Given the description of an element on the screen output the (x, y) to click on. 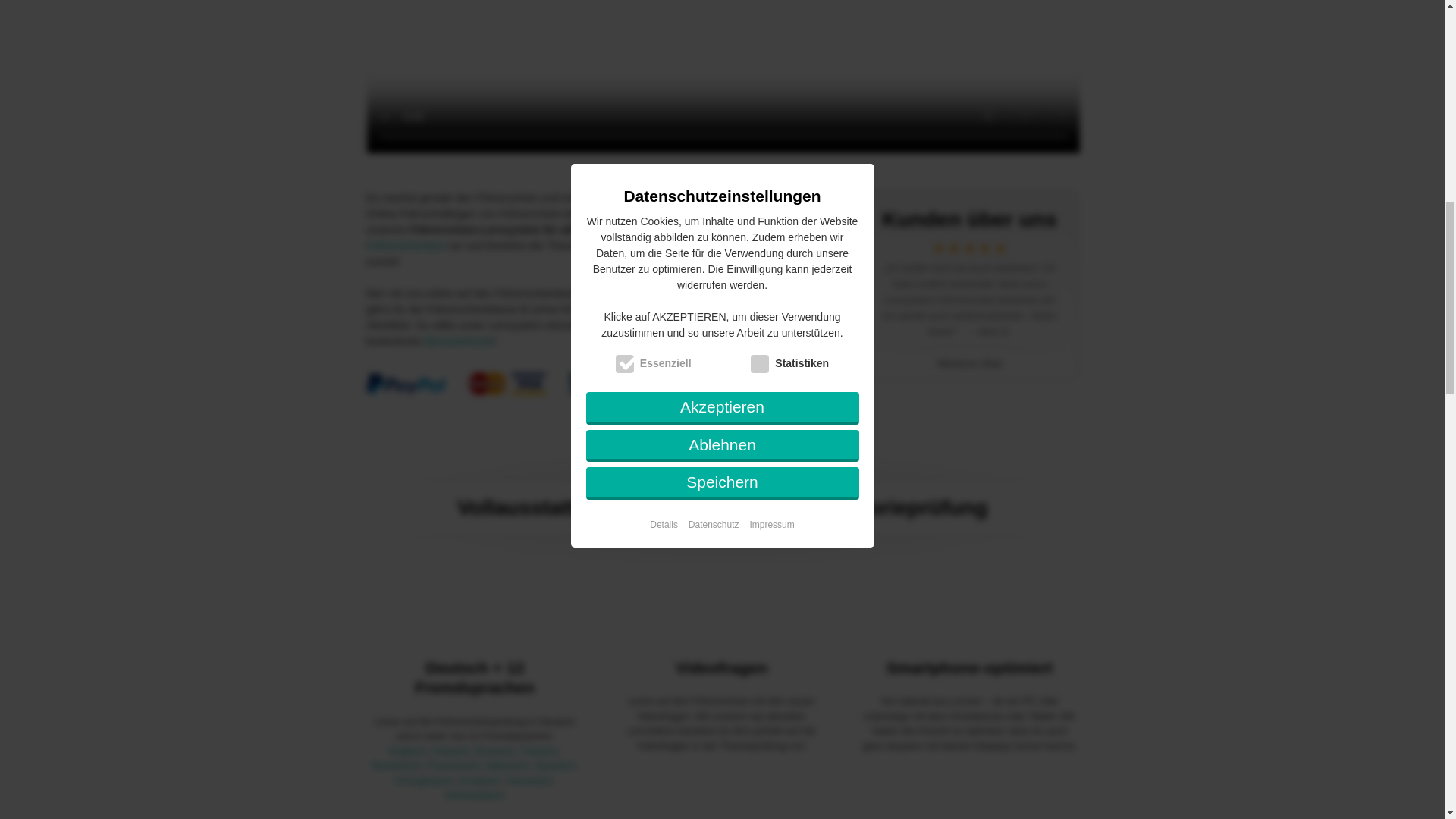
Hier findest du alle Preise (738, 309)
Benutzerkonto (459, 340)
Englisch (408, 750)
